Given the description of an element on the screen output the (x, y) to click on. 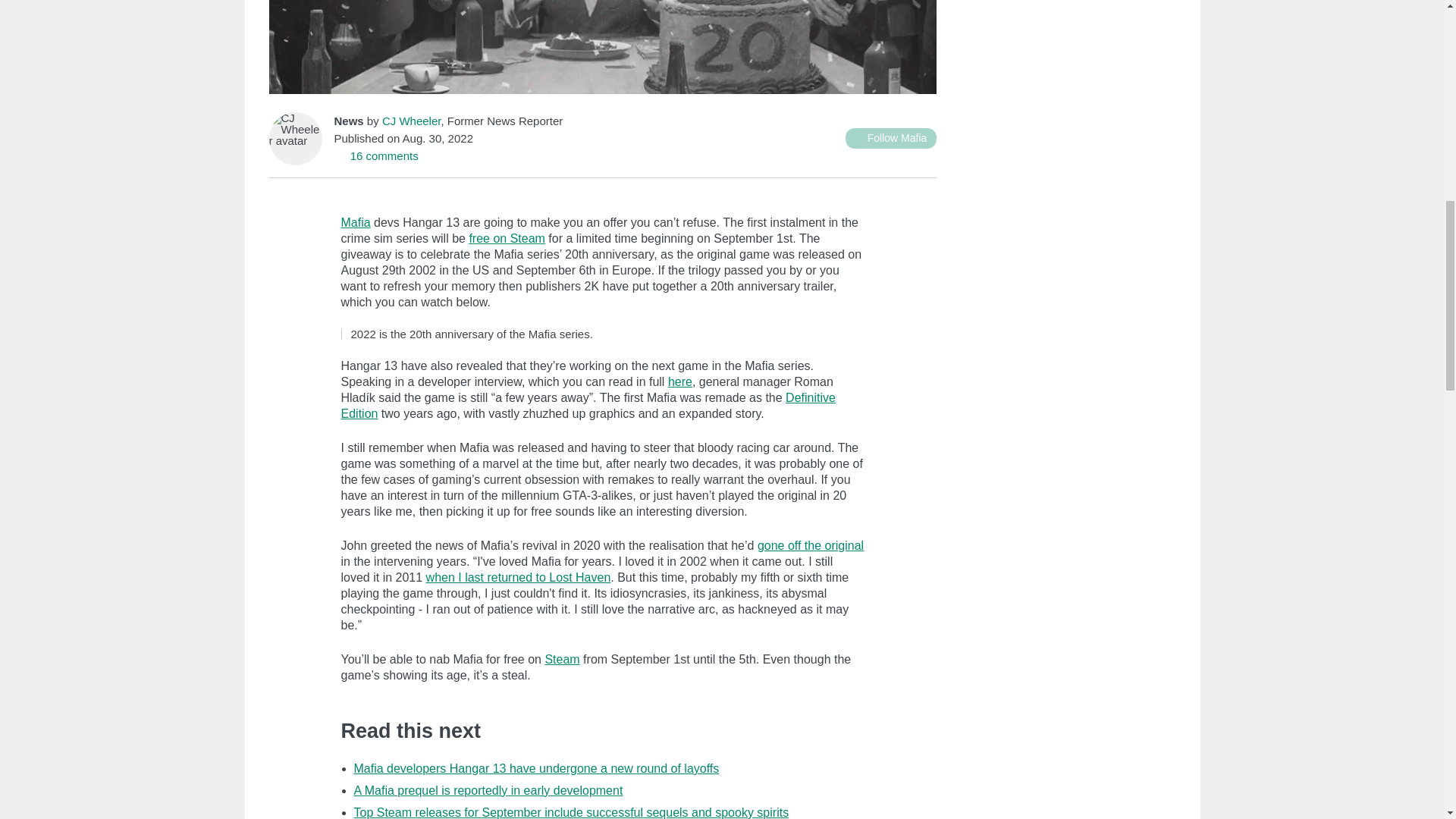
when I last returned to Lost Haven (518, 576)
Follow Mafia (890, 137)
free on Steam (506, 237)
Steam (561, 658)
gone off the original (810, 545)
Mafia (355, 222)
Definitive Edition (587, 405)
CJ Wheeler (411, 120)
16 comments (375, 155)
